Given the description of an element on the screen output the (x, y) to click on. 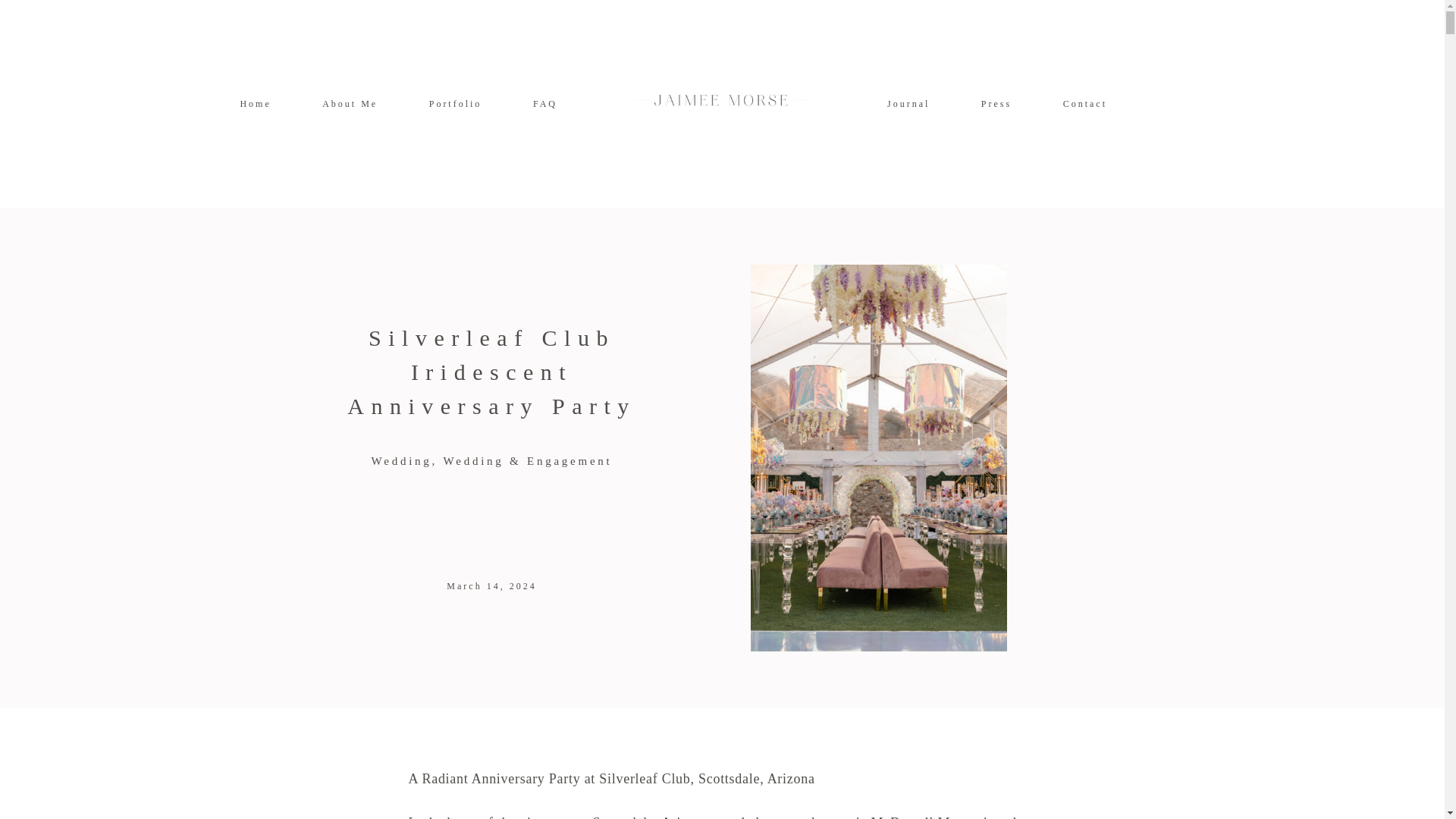
recent stories (908, 103)
Portfolio (455, 103)
Wedding (404, 461)
About Me (349, 103)
Contact (1084, 103)
Press (996, 103)
Home (255, 103)
Journal (908, 103)
FAQ (544, 103)
